Given the description of an element on the screen output the (x, y) to click on. 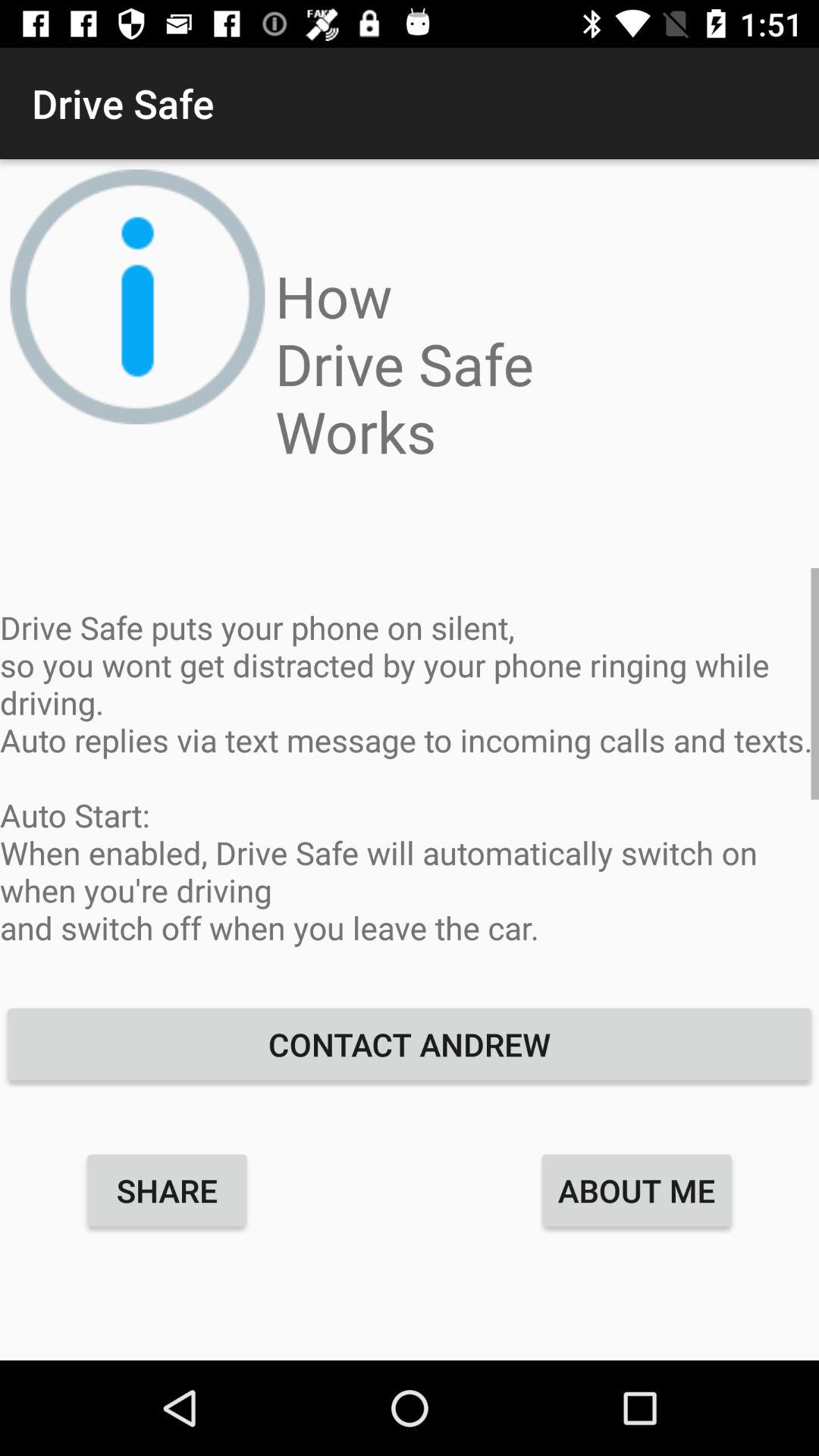
launch the item below drive safe puts icon (409, 1044)
